Given the description of an element on the screen output the (x, y) to click on. 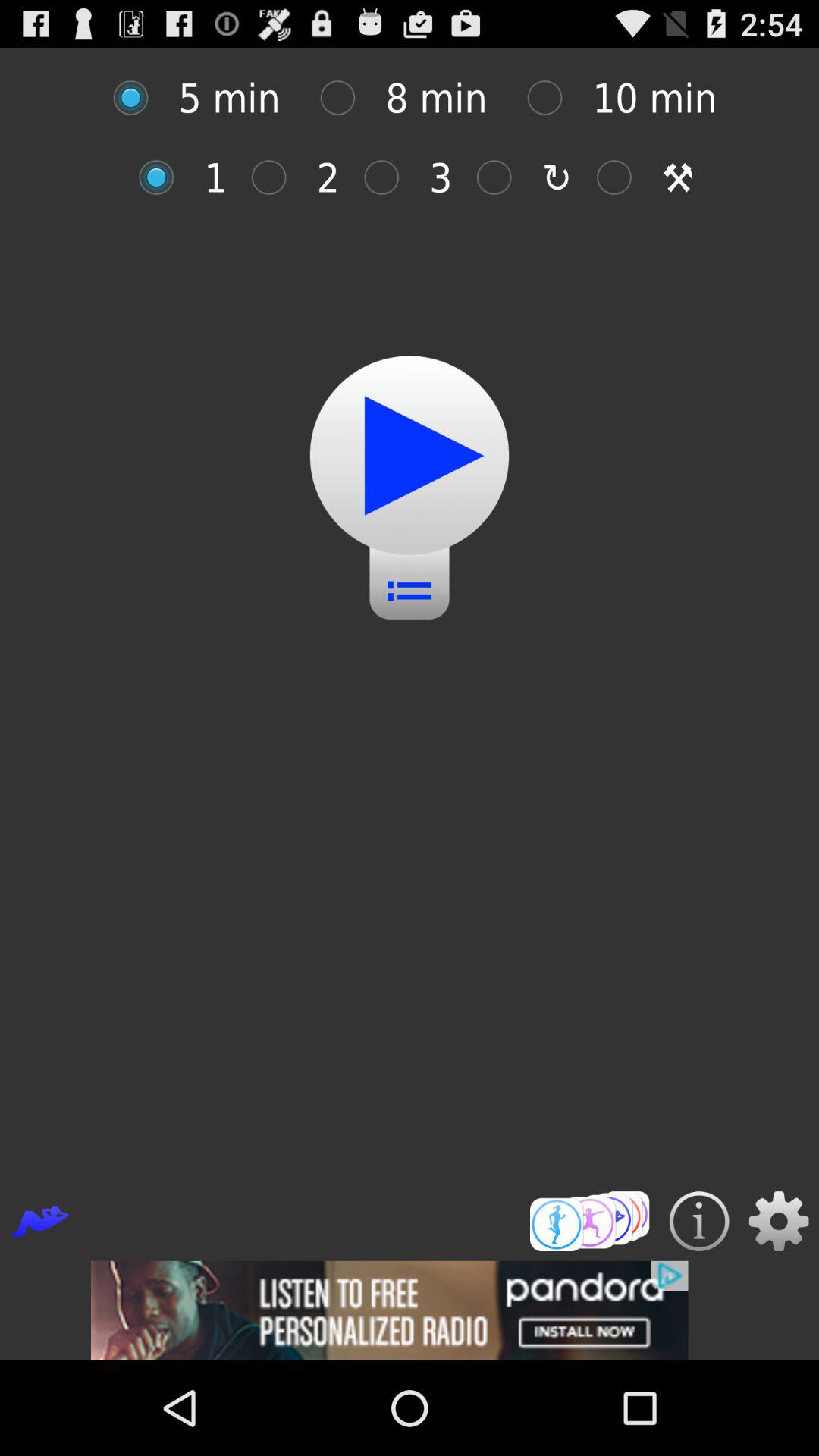
select option 1 (164, 177)
